Given the description of an element on the screen output the (x, y) to click on. 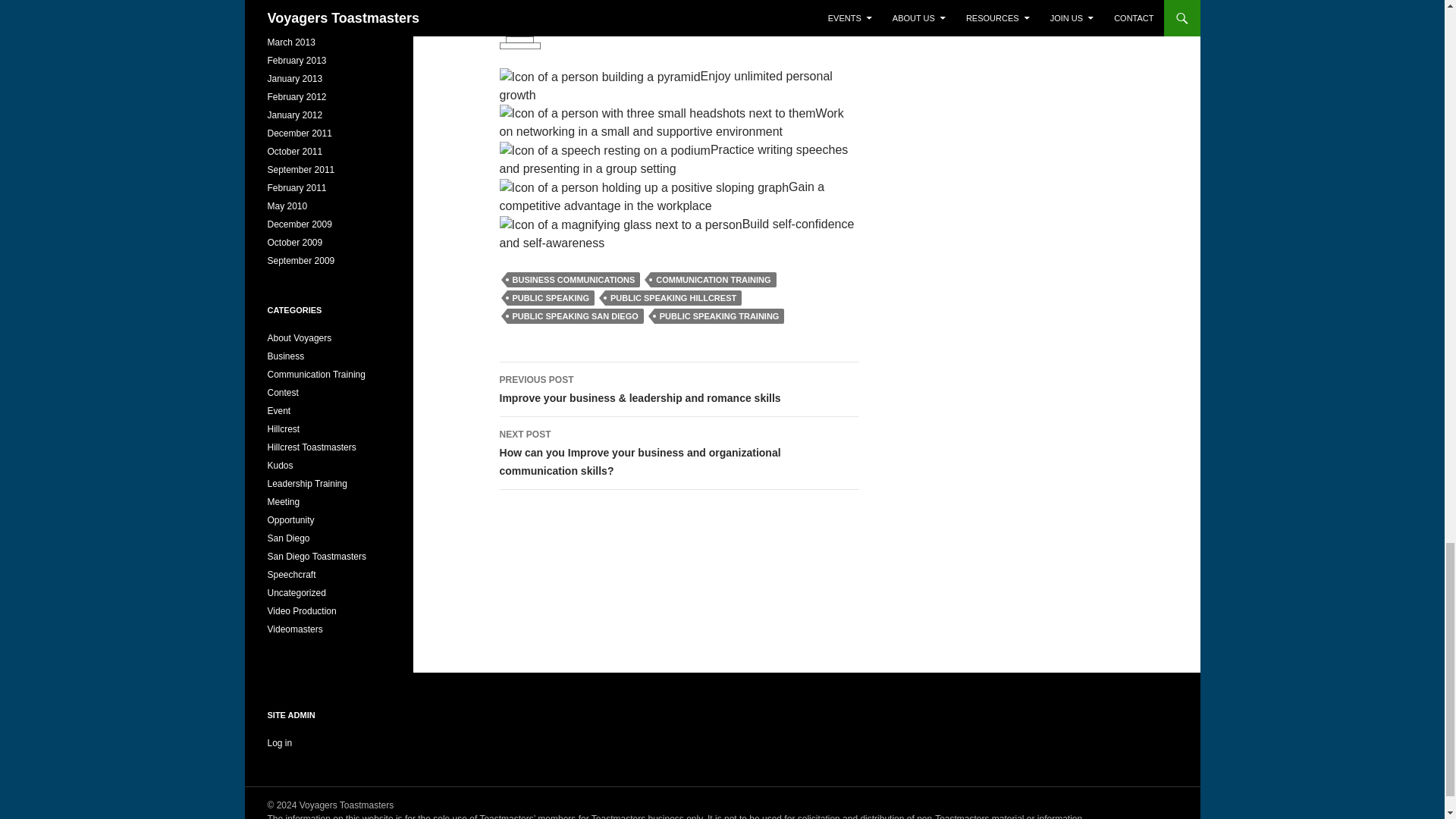
Event announcements and reports (277, 410)
BUSINESS COMMUNICATIONS (573, 279)
Club business (285, 356)
Recognition for achievements, awards and service (279, 465)
COMMUNICATION TRAINING (713, 279)
